Given the description of an element on the screen output the (x, y) to click on. 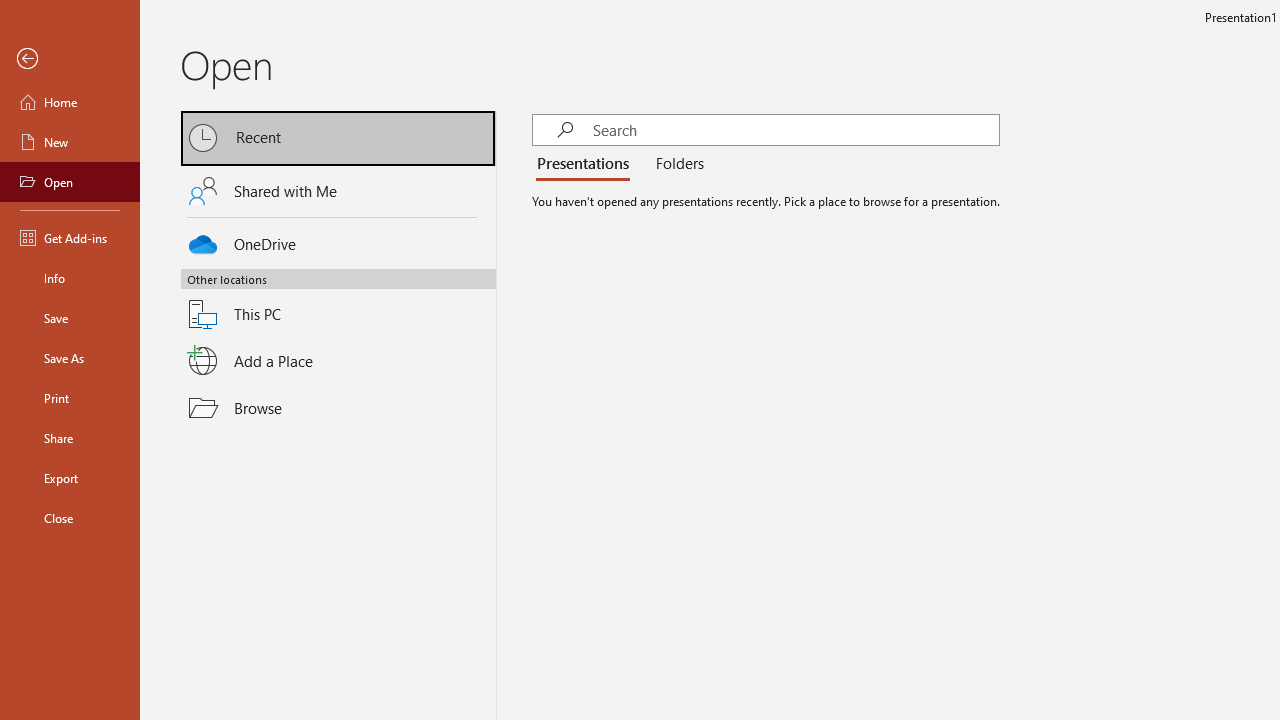
Back (69, 59)
Get Add-ins (69, 237)
Export (69, 477)
Presentations (587, 164)
Browse (338, 407)
Save As (69, 357)
Info (69, 277)
Add a Place (338, 361)
OneDrive (338, 240)
Folders (676, 164)
Shared with Me (338, 191)
This PC (338, 302)
